Given the description of an element on the screen output the (x, y) to click on. 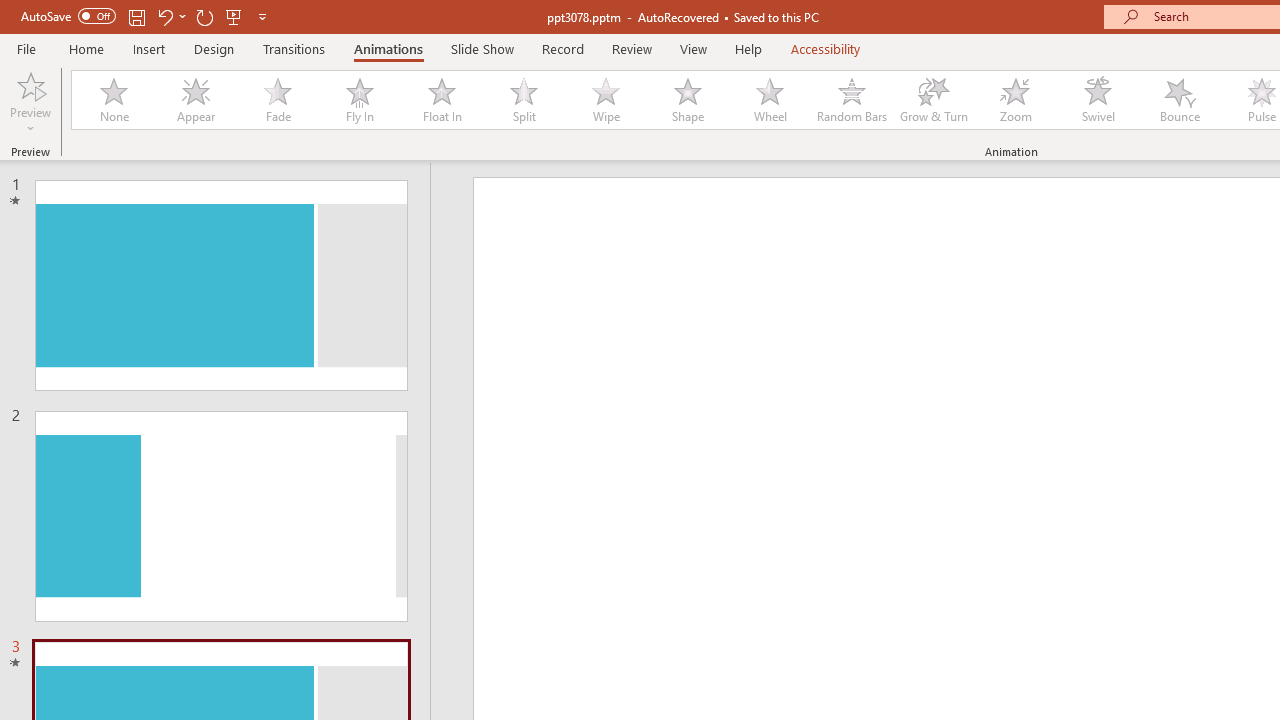
Shape (687, 100)
Split (523, 100)
Wipe (605, 100)
